Given the description of an element on the screen output the (x, y) to click on. 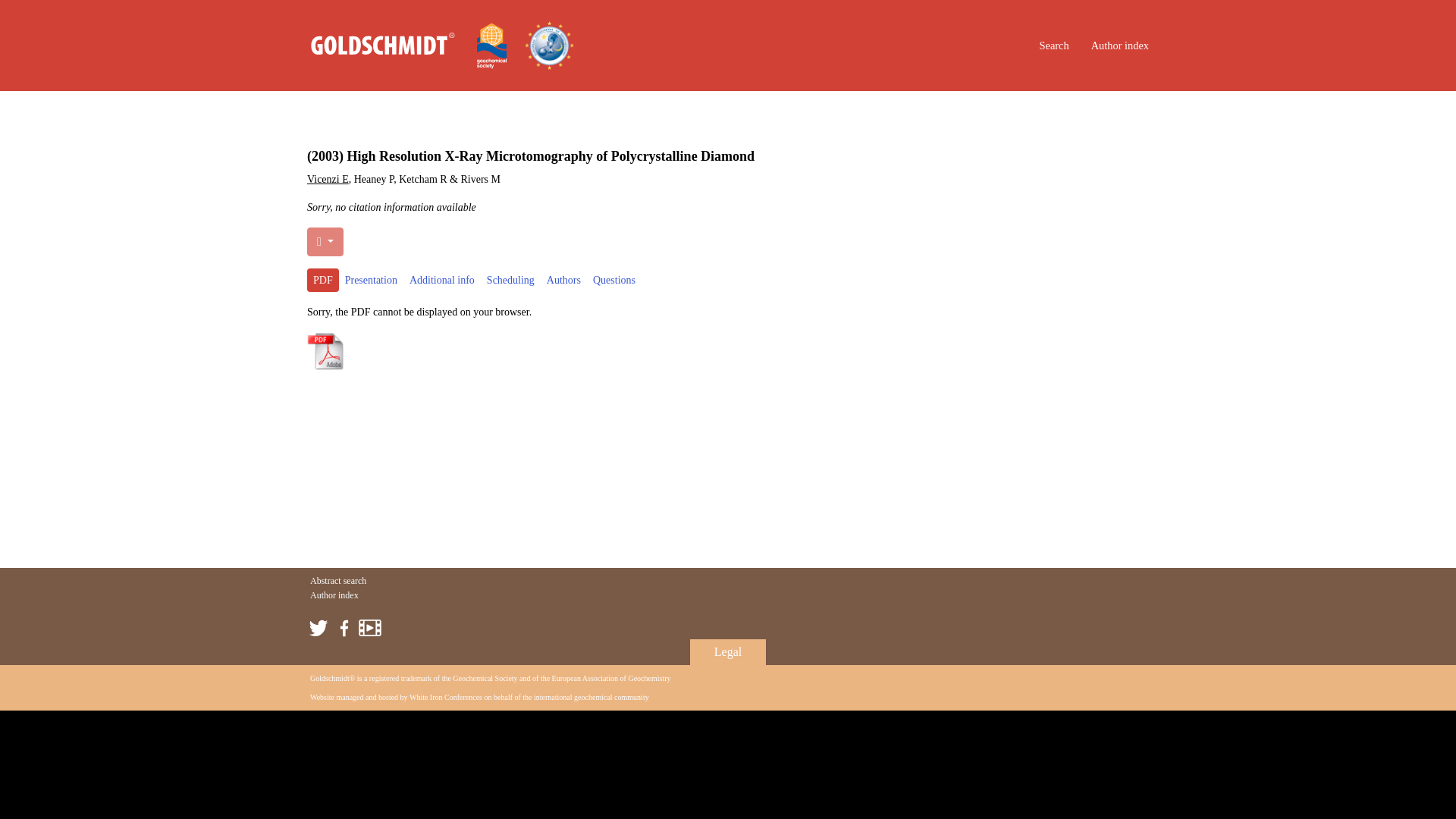
PDF (323, 279)
Author index (1119, 45)
Additional info (441, 279)
Author index (334, 594)
Abstract search (338, 580)
Authors (563, 279)
Scheduling (510, 279)
Presentation (371, 279)
Search (1053, 45)
Questions (614, 279)
